Given the description of an element on the screen output the (x, y) to click on. 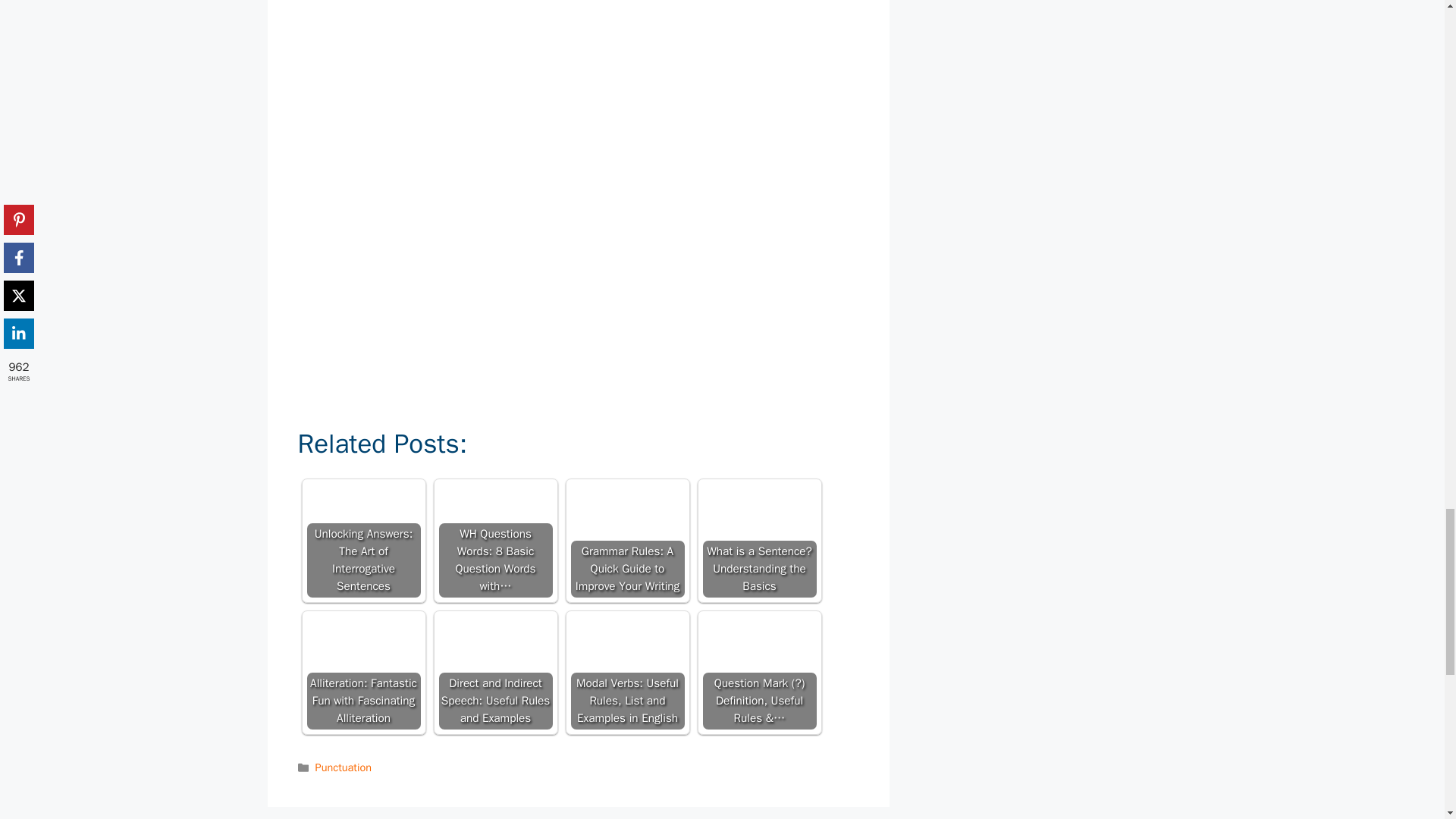
Alliteration: Fantastic Fun with Fascinating Alliteration (362, 672)
Grammar Rules: A Quick Guide to Improve Your Writing (627, 513)
Modal Verbs: Useful Rules, List and Examples in English (627, 645)
Direct and Indirect Speech: Useful Rules and Examples (494, 645)
